Given the description of an element on the screen output the (x, y) to click on. 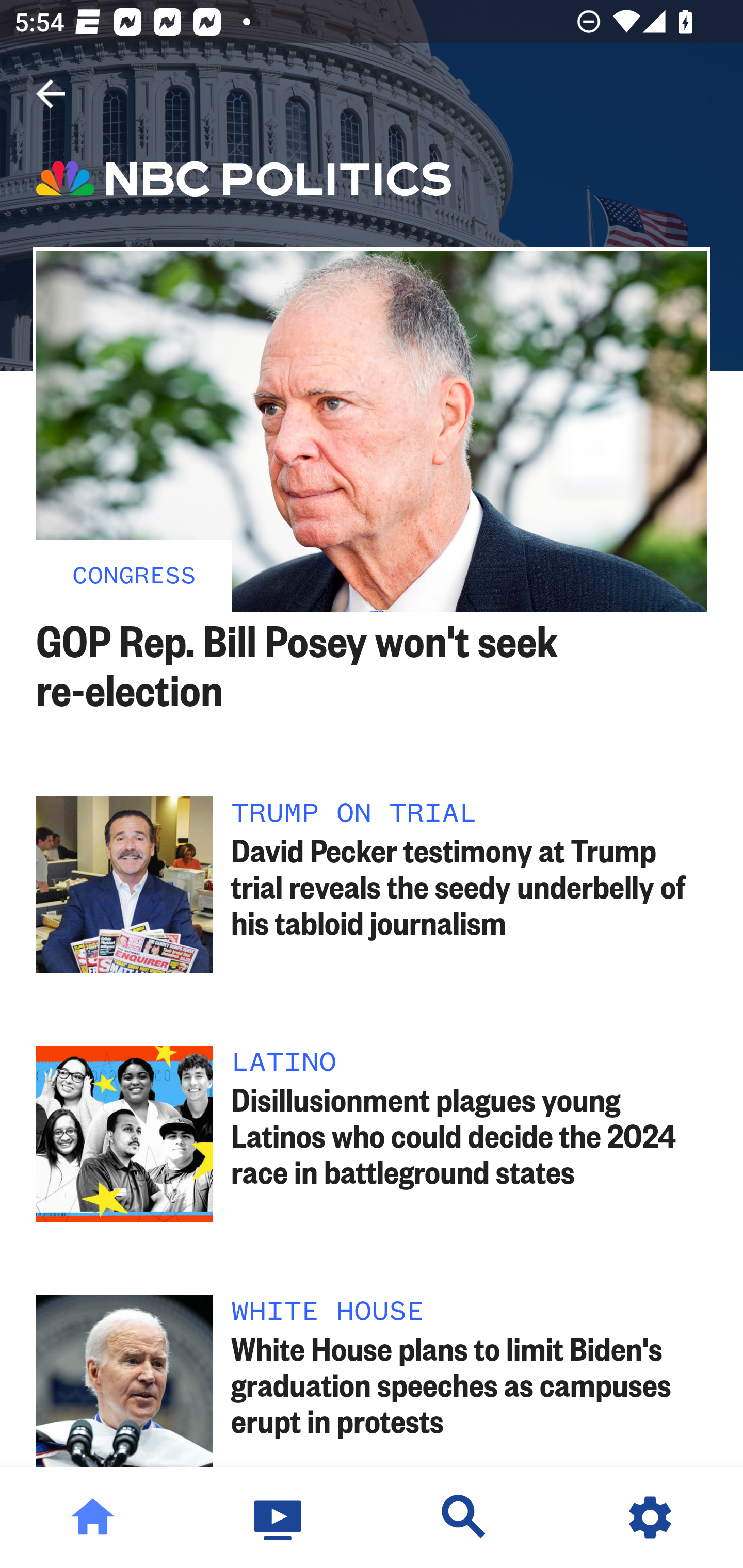
Navigate up (50, 93)
Watch (278, 1517)
Discover (464, 1517)
Settings (650, 1517)
